Given the description of an element on the screen output the (x, y) to click on. 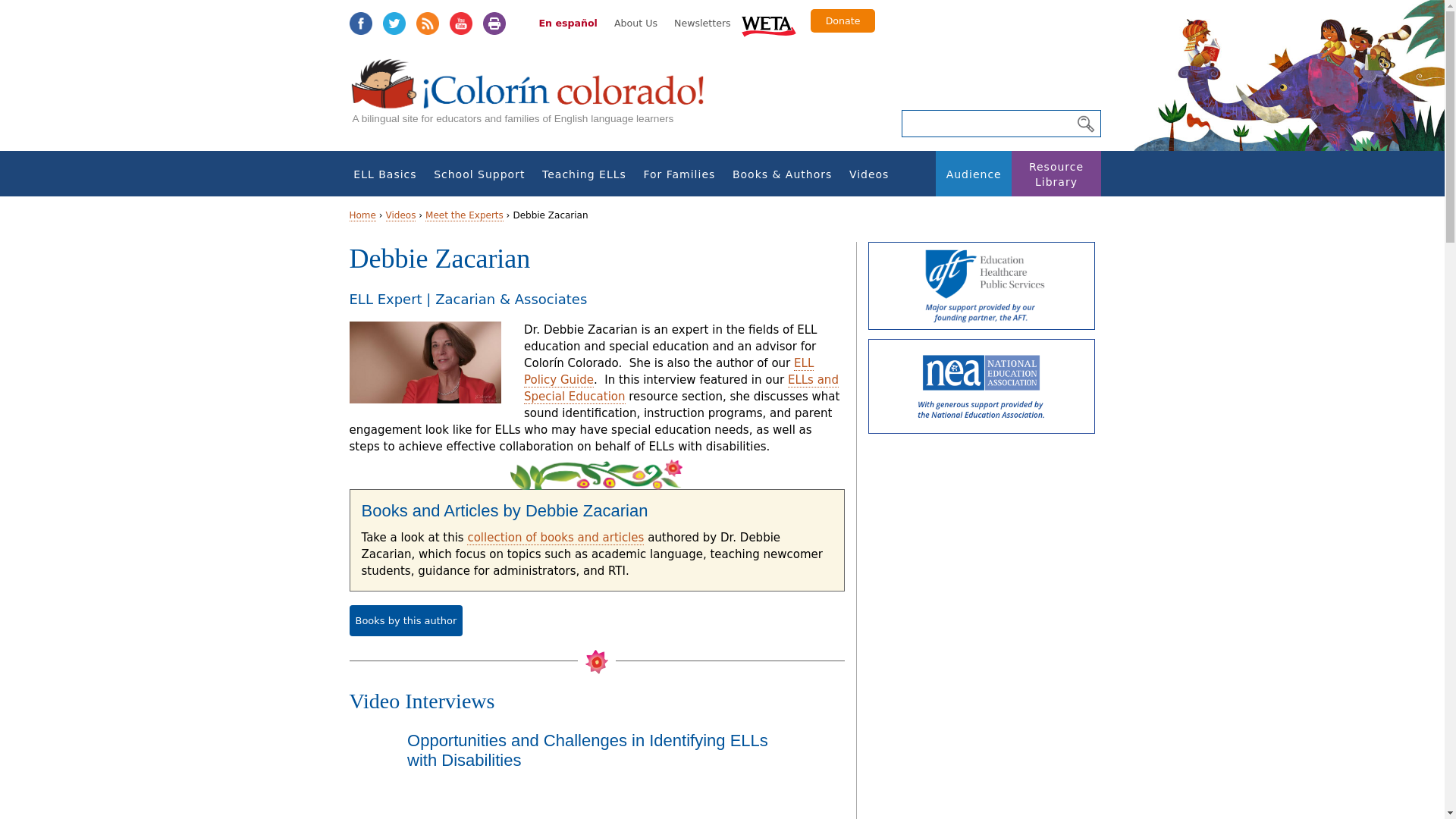
Twitter (392, 23)
Donate (843, 20)
Facebook (360, 23)
Search (1085, 123)
Newsletters (702, 22)
WETA (768, 24)
Home (535, 98)
About Us (636, 22)
